Given the description of an element on the screen output the (x, y) to click on. 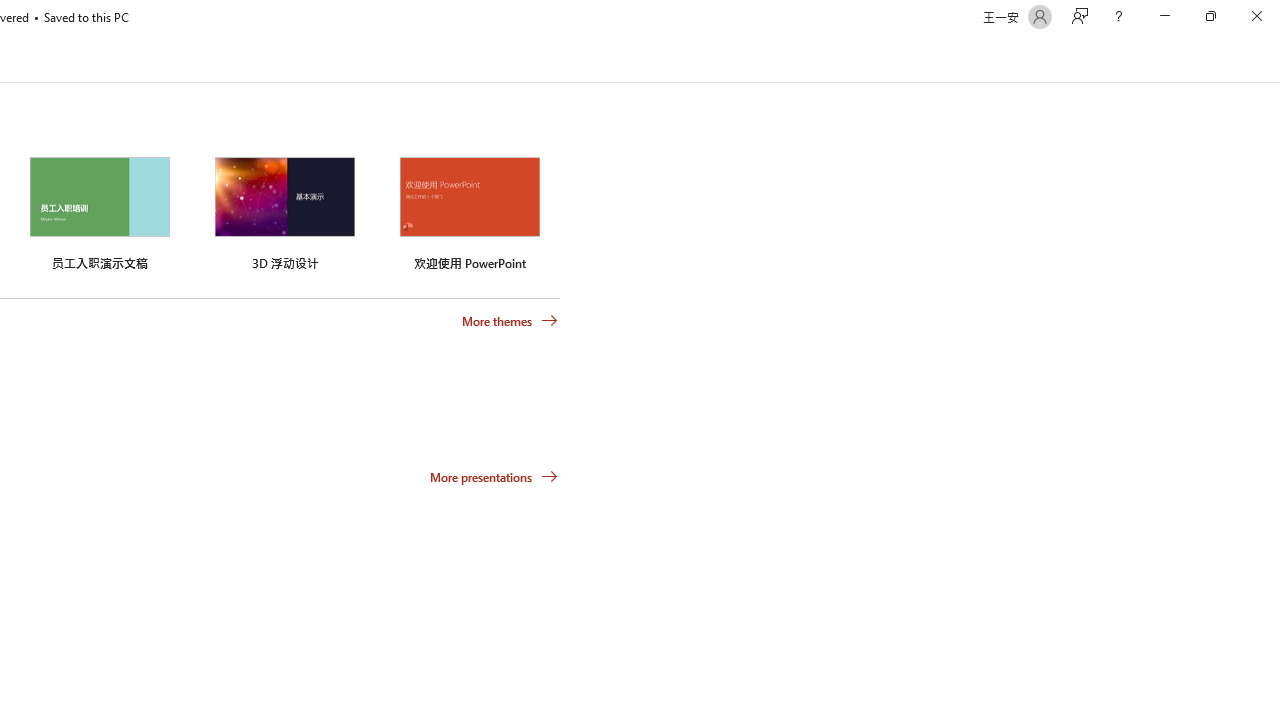
More presentations (493, 476)
More themes (509, 321)
Class: NetUIScrollBar (1271, 59)
